Given the description of an element on the screen output the (x, y) to click on. 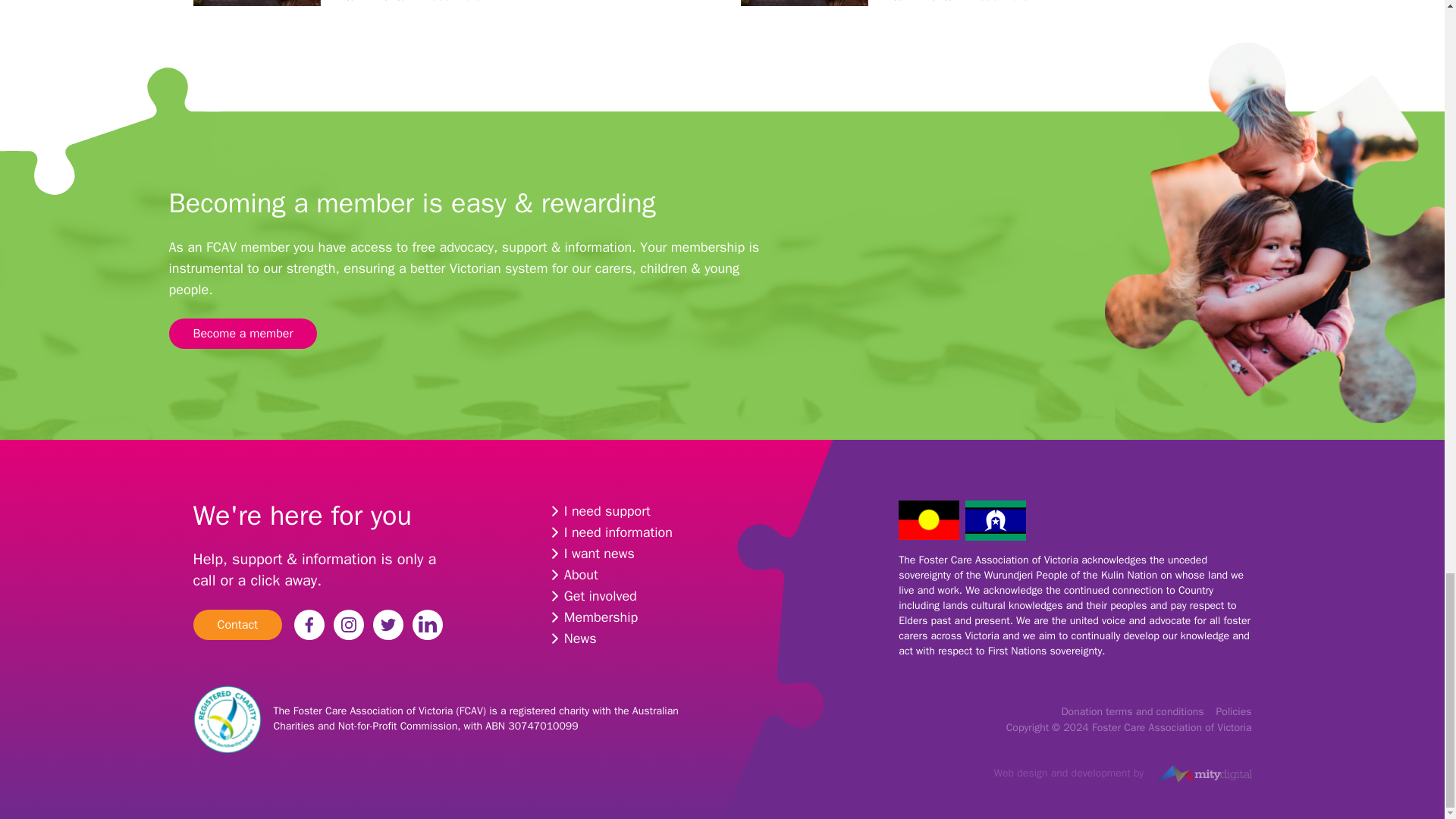
Become a member (242, 333)
Find us on Facebook (309, 624)
Find us on Twitter (387, 624)
Find us on Instagram (348, 624)
Find us on LinkedIn (427, 624)
Contact (237, 624)
